Given the description of an element on the screen output the (x, y) to click on. 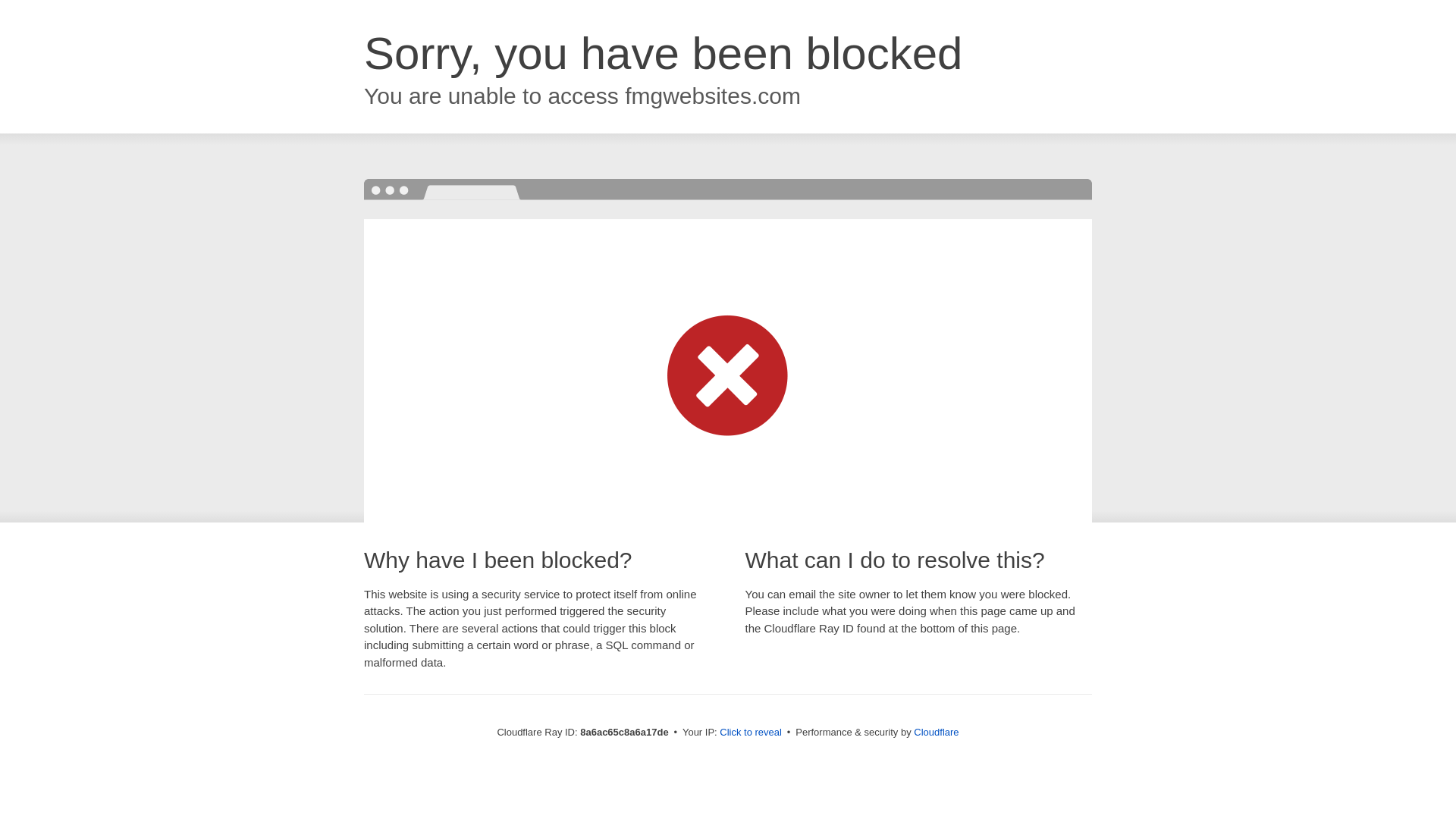
Cloudflare (936, 731)
Click to reveal (750, 732)
